Given the description of an element on the screen output the (x, y) to click on. 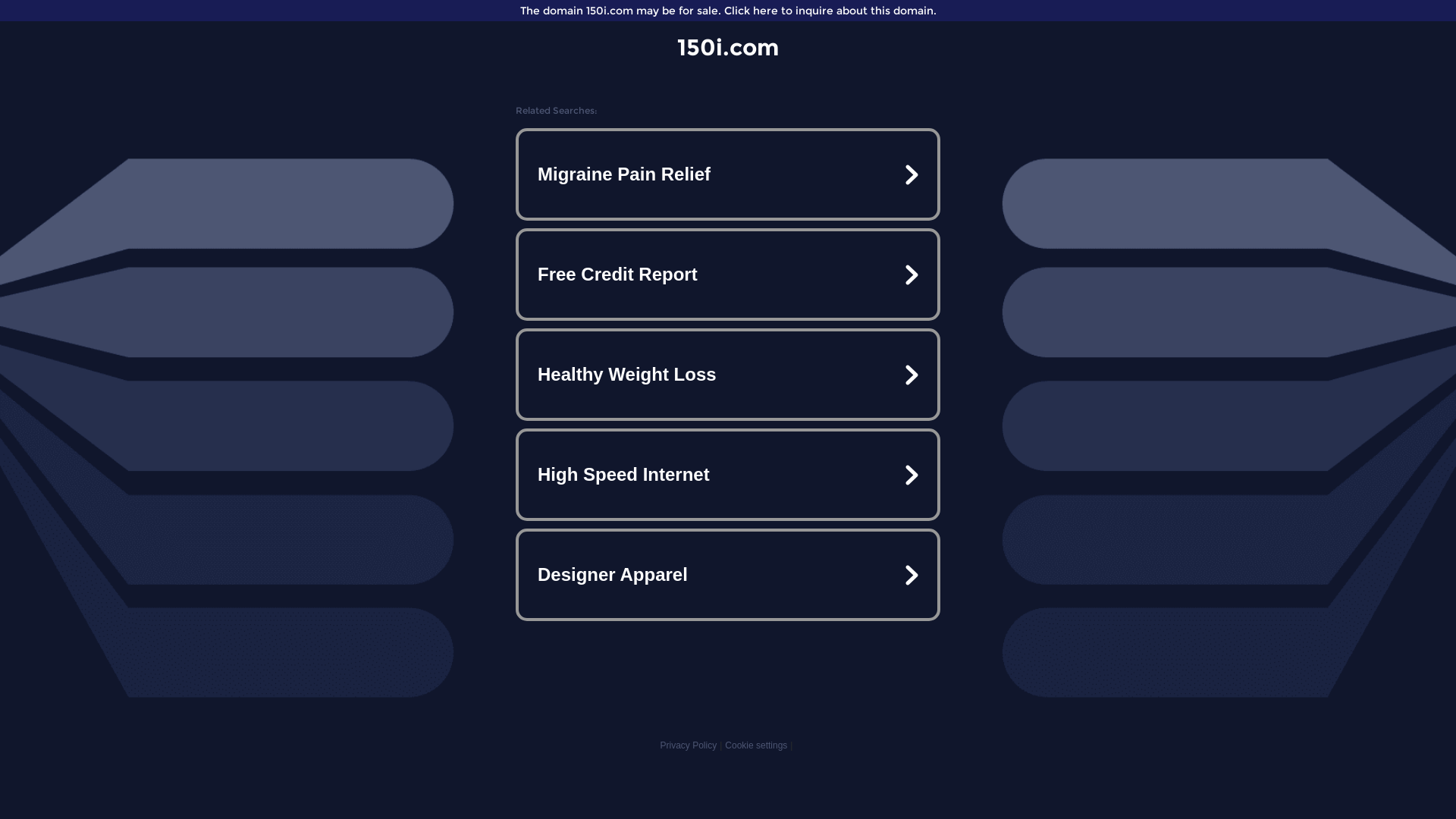
Designer Apparel Element type: text (727, 574)
Cookie settings Element type: text (755, 745)
High Speed Internet Element type: text (727, 474)
Healthy Weight Loss Element type: text (727, 374)
Free Credit Report Element type: text (727, 274)
Privacy Policy Element type: text (687, 745)
150i.com Element type: text (727, 47)
Migraine Pain Relief Element type: text (727, 174)
